Given the description of an element on the screen output the (x, y) to click on. 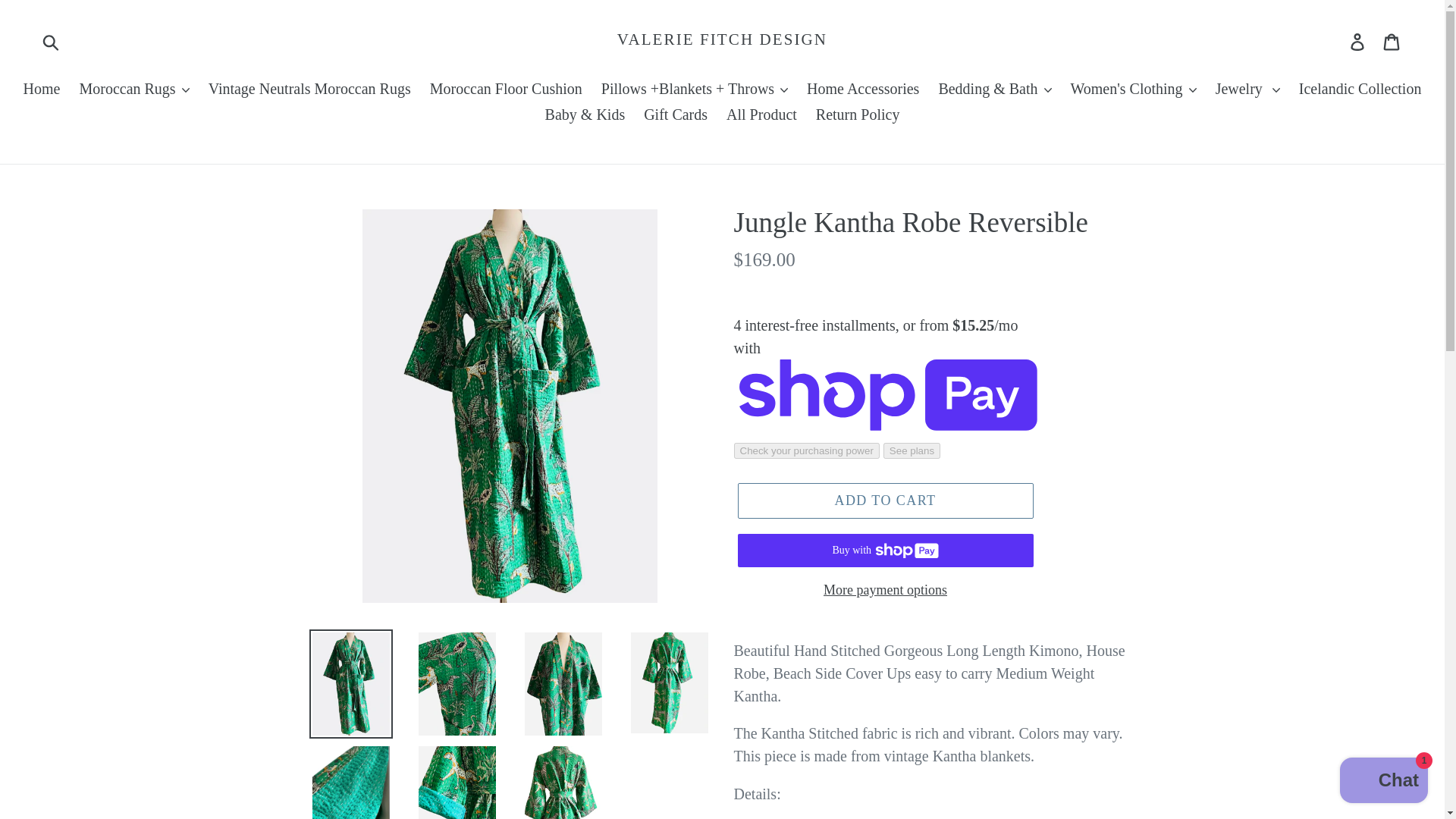
Shopify online store chat (1383, 781)
VALERIE FITCH DESIGN (722, 39)
Submit (51, 39)
Cart (1392, 39)
Log in (1357, 39)
